Given the description of an element on the screen output the (x, y) to click on. 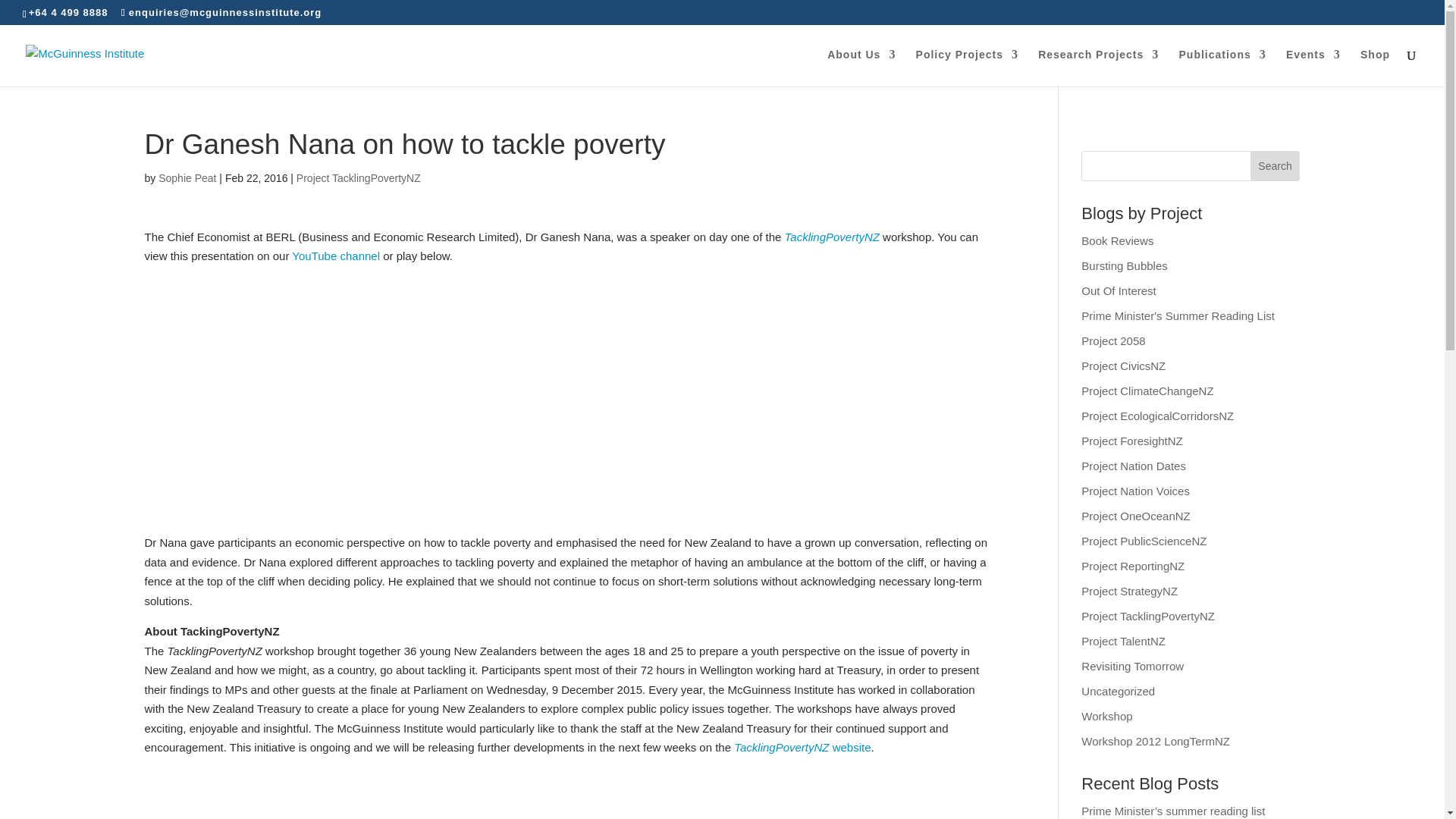
Research Projects (1098, 67)
Posts by Sophie Peat (186, 177)
Publications (1221, 67)
Policy Projects (966, 67)
About Us (861, 67)
Search (1275, 165)
